Given the description of an element on the screen output the (x, y) to click on. 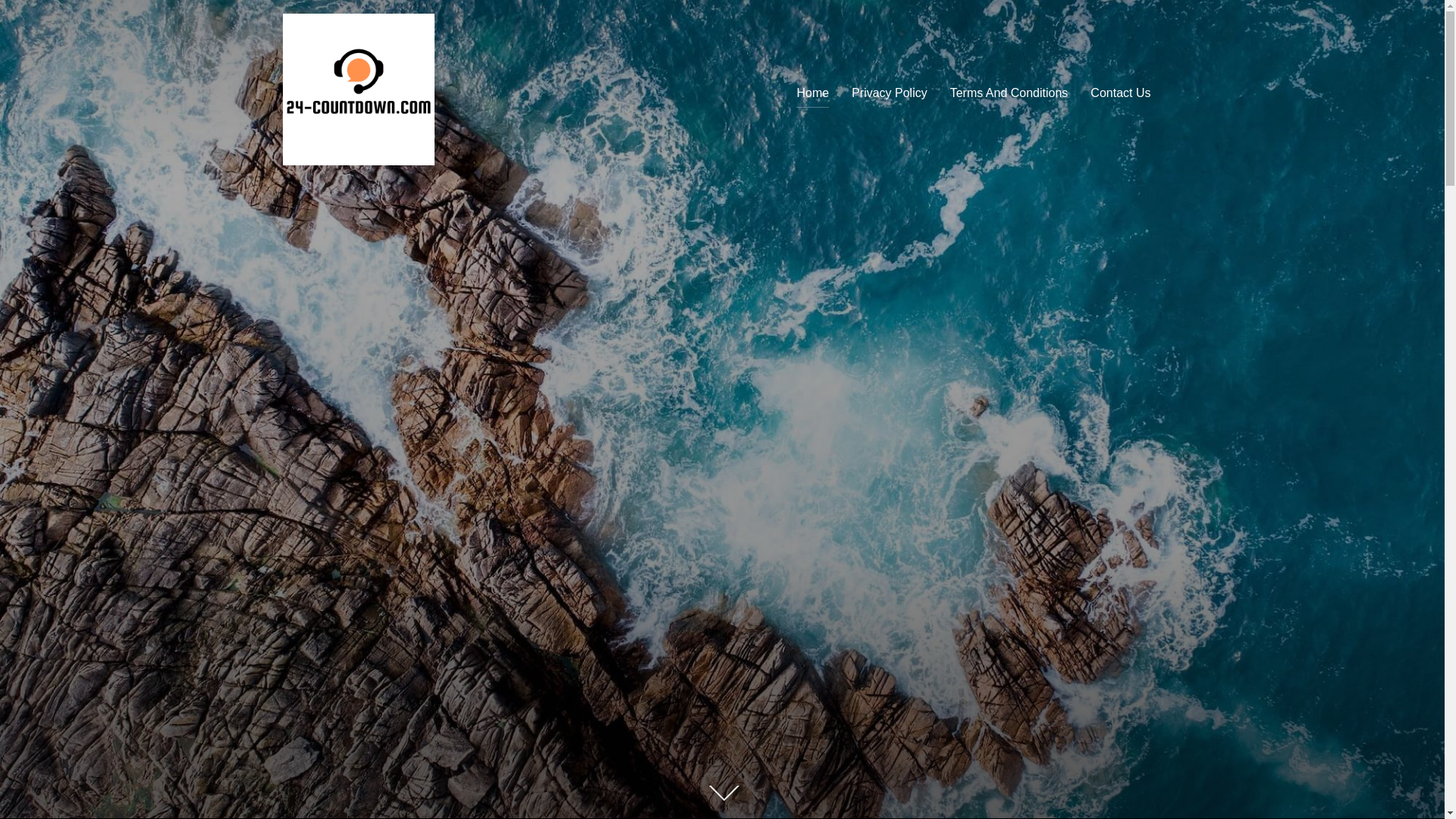
Terms And Conditions Element type: text (1009, 92)
Home Element type: text (812, 92)
Your Ultimate HVAC Resource Element type: text (715, 446)
Contact Us Element type: text (1120, 92)
Privacy Policy Element type: text (889, 92)
